Given the description of an element on the screen output the (x, y) to click on. 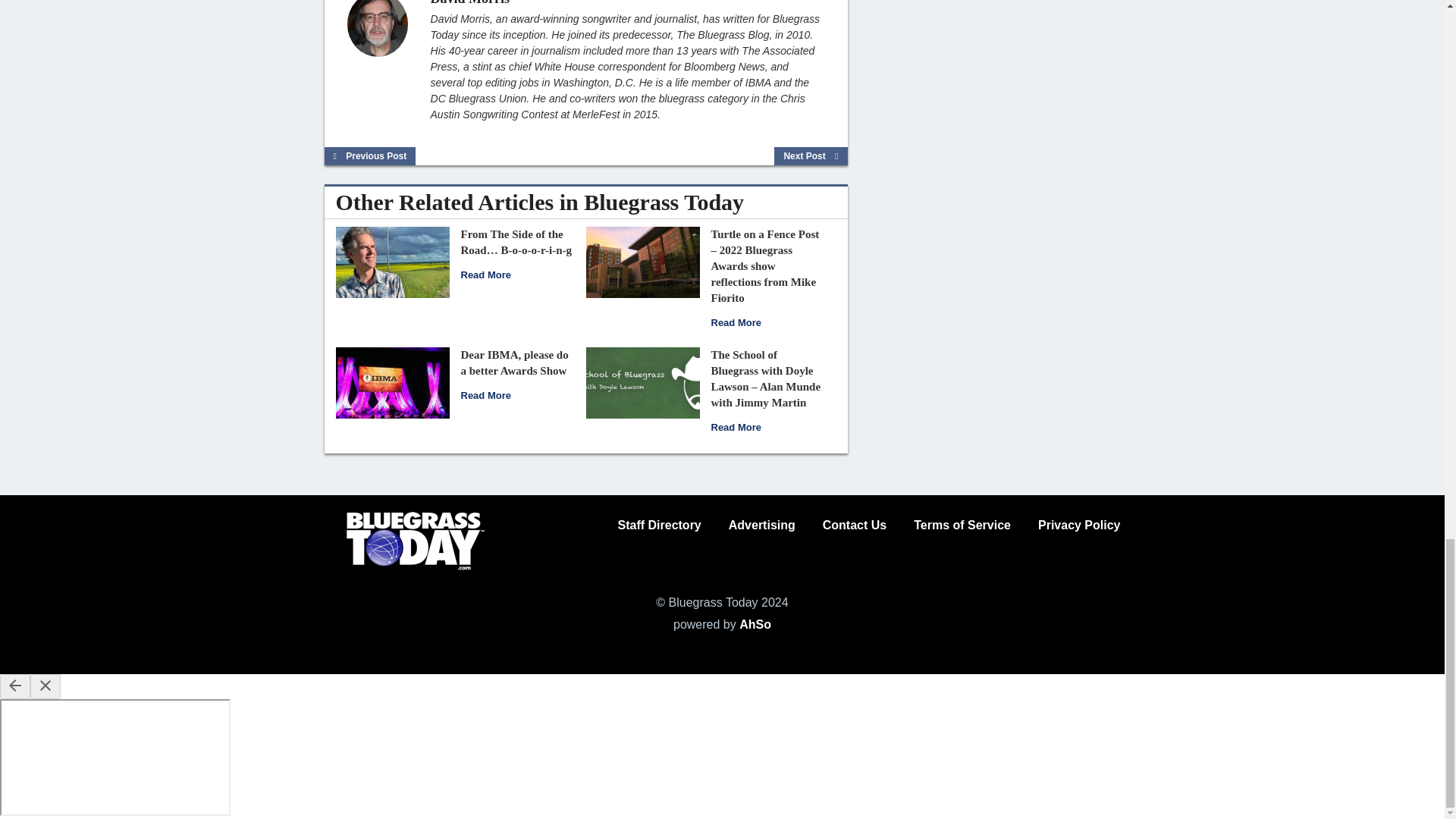
Dear IBMA, please do a better Awards Show (391, 381)
Next Post (810, 156)
Previous Post (370, 156)
Dear IBMA, please do a better Awards Show (515, 362)
Dear IBMA, please do a better Awards Show (486, 395)
